Given the description of an element on the screen output the (x, y) to click on. 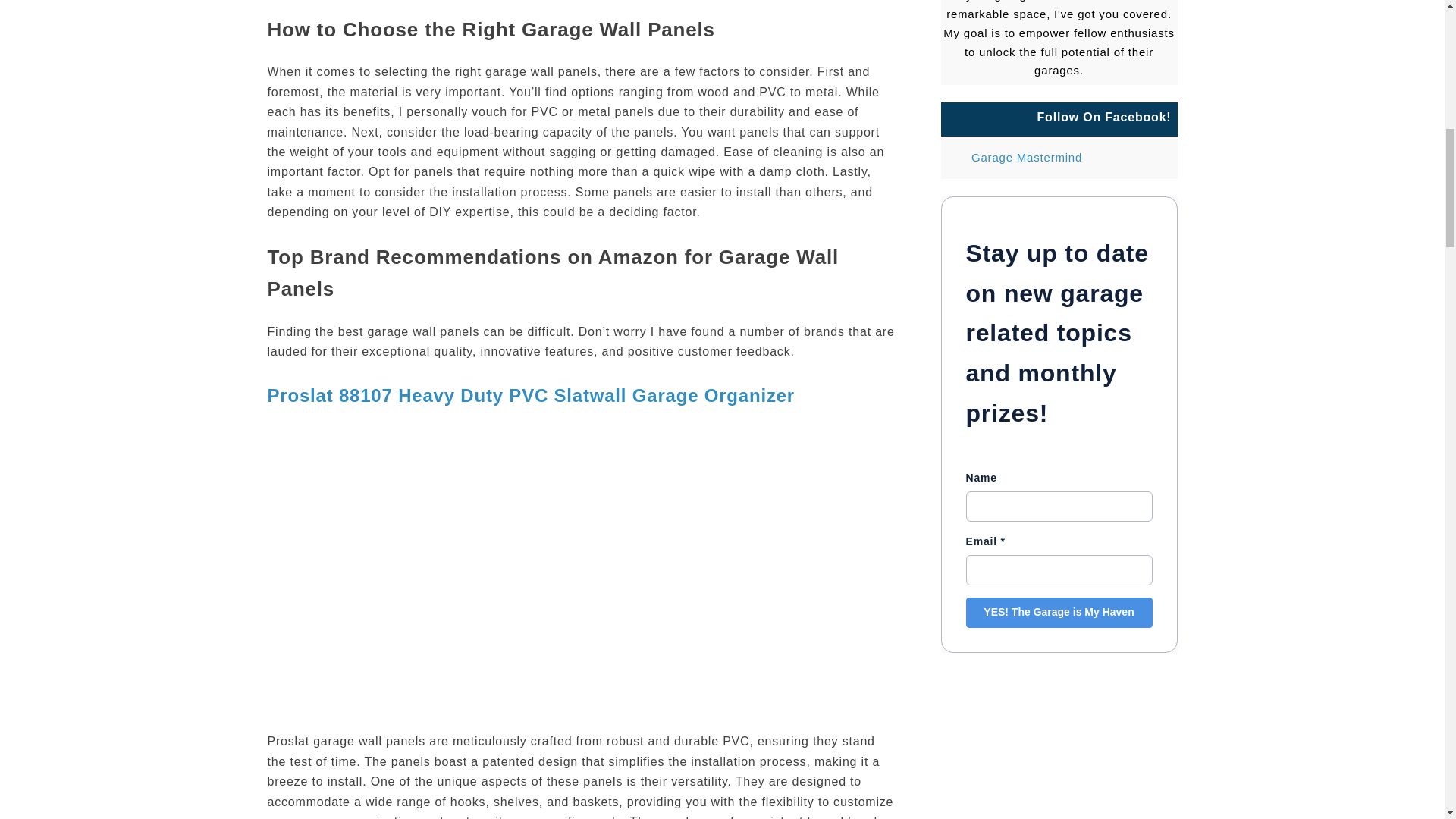
Garage Mastermind (1059, 157)
Proslat 88107 Heavy Duty PVC Slatwall Garage Organizer (530, 394)
